Given the description of an element on the screen output the (x, y) to click on. 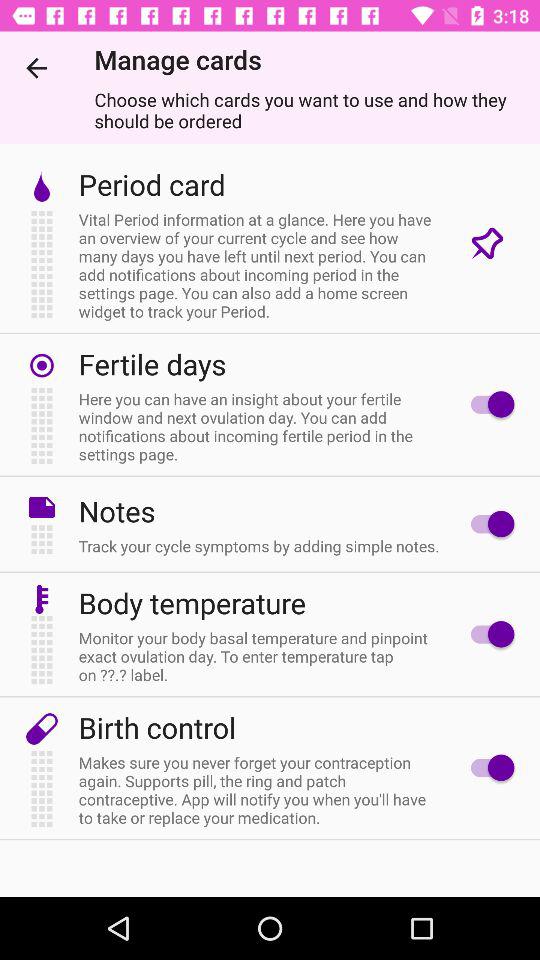
click to notifications option (487, 523)
